Given the description of an element on the screen output the (x, y) to click on. 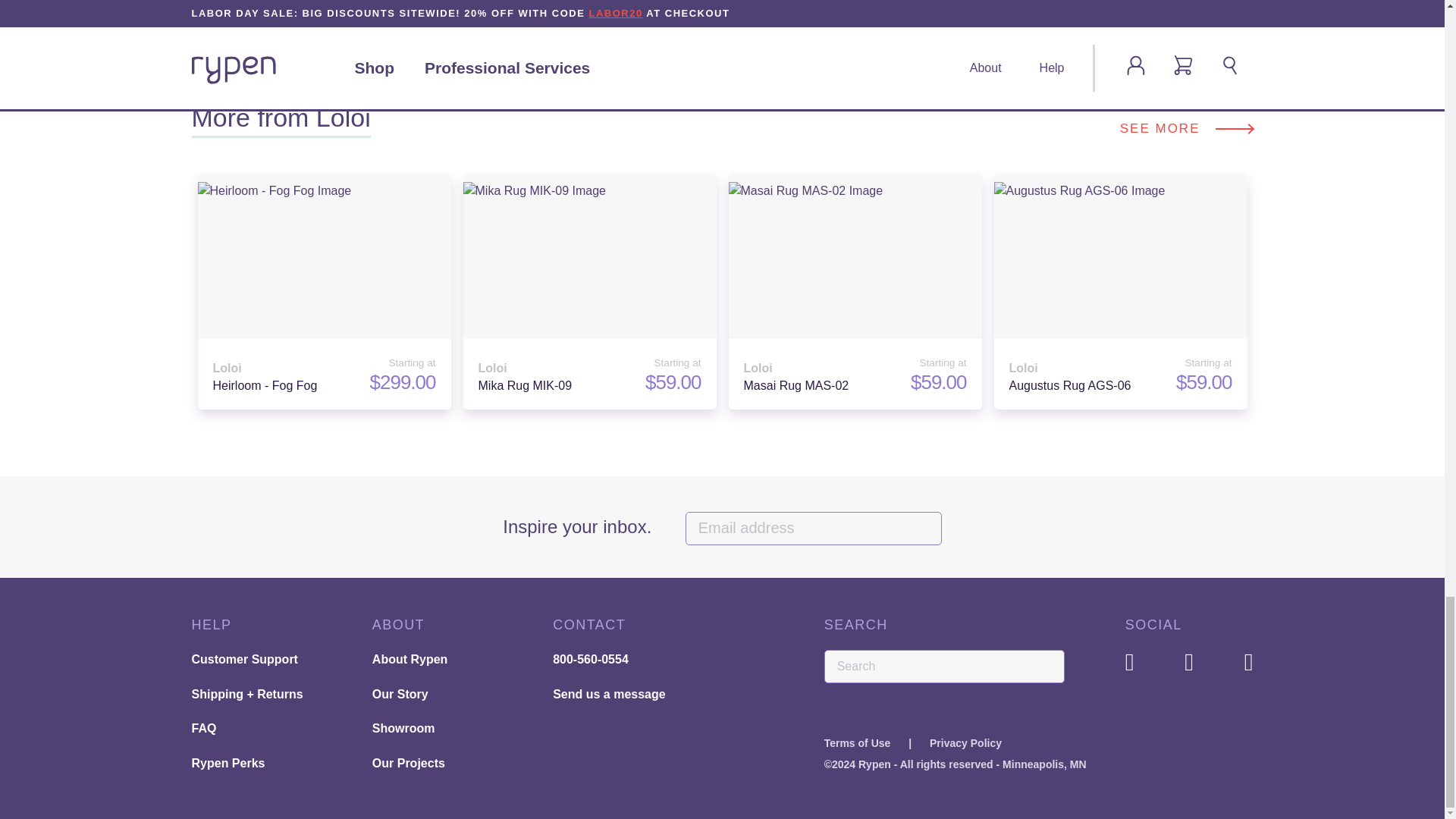
SEE MORE (962, 16)
Customer Support (1186, 128)
